Given the description of an element on the screen output the (x, y) to click on. 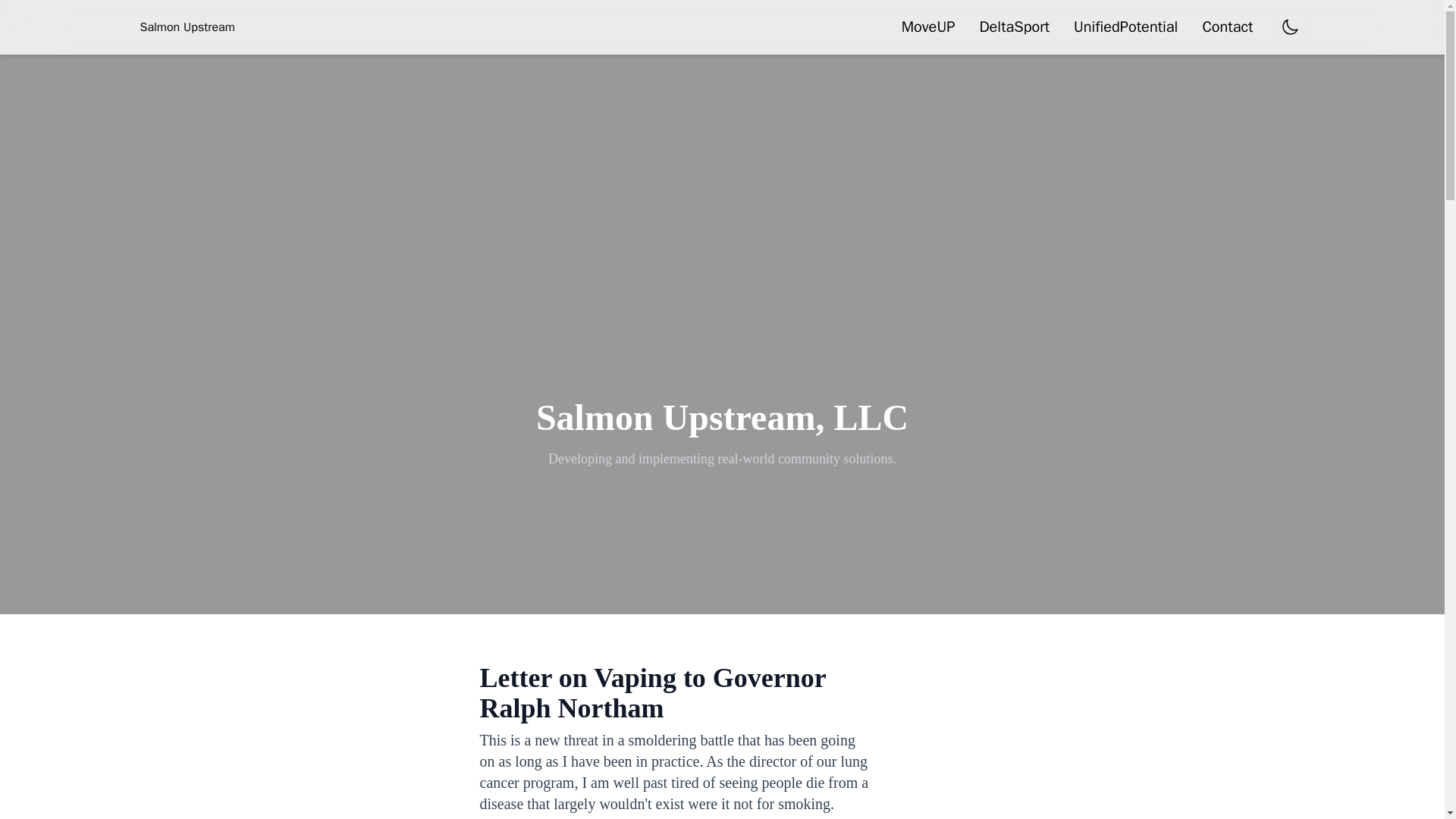
UnifiedPotential (1125, 26)
Salmon Upstream (186, 27)
Contact (1227, 26)
Toggle mode (1289, 27)
MoveUP (928, 26)
DeltaSport (1013, 26)
